Given the description of an element on the screen output the (x, y) to click on. 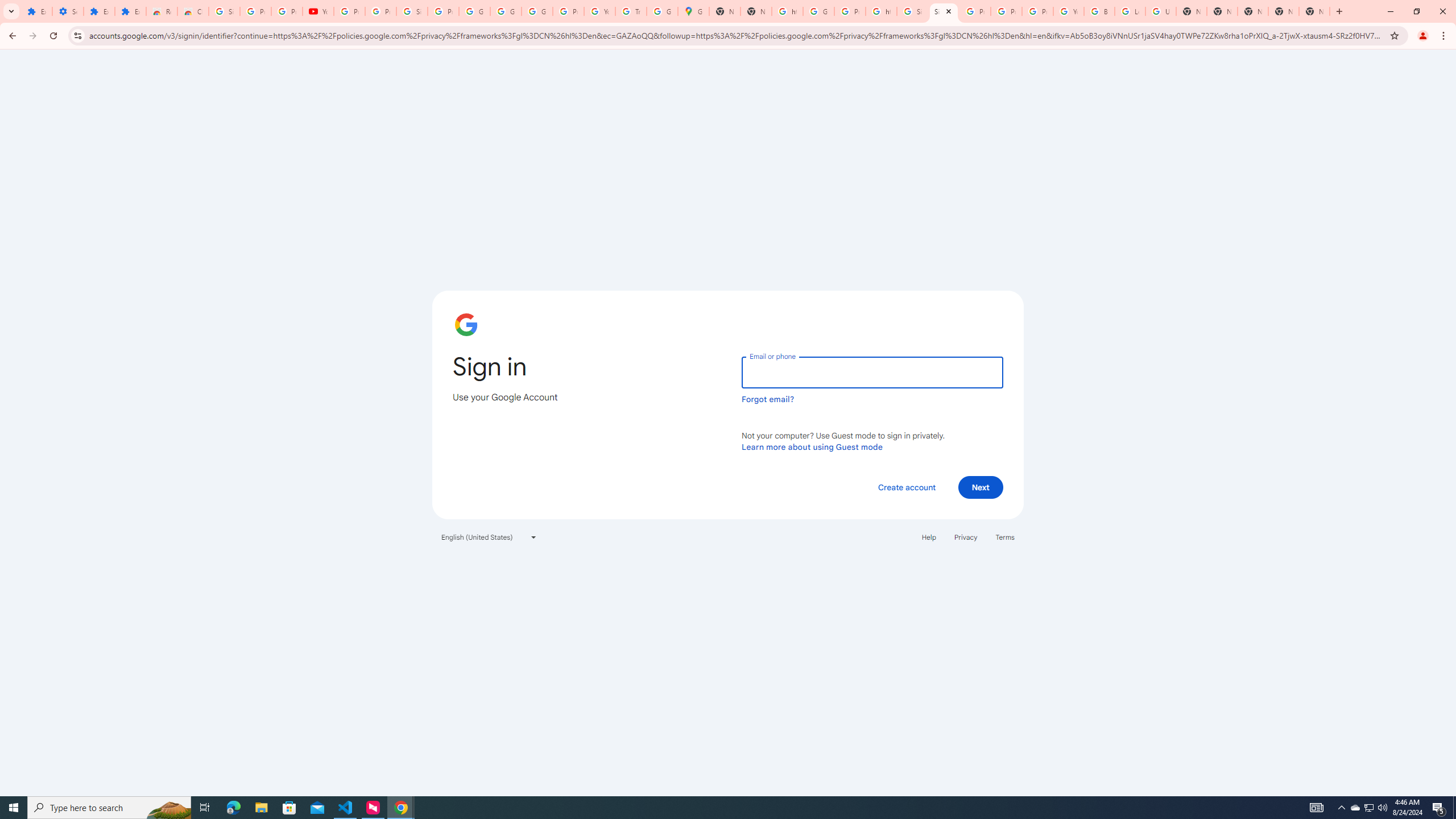
Sign in - Google Accounts (912, 11)
Extensions (36, 11)
